Given the description of an element on the screen output the (x, y) to click on. 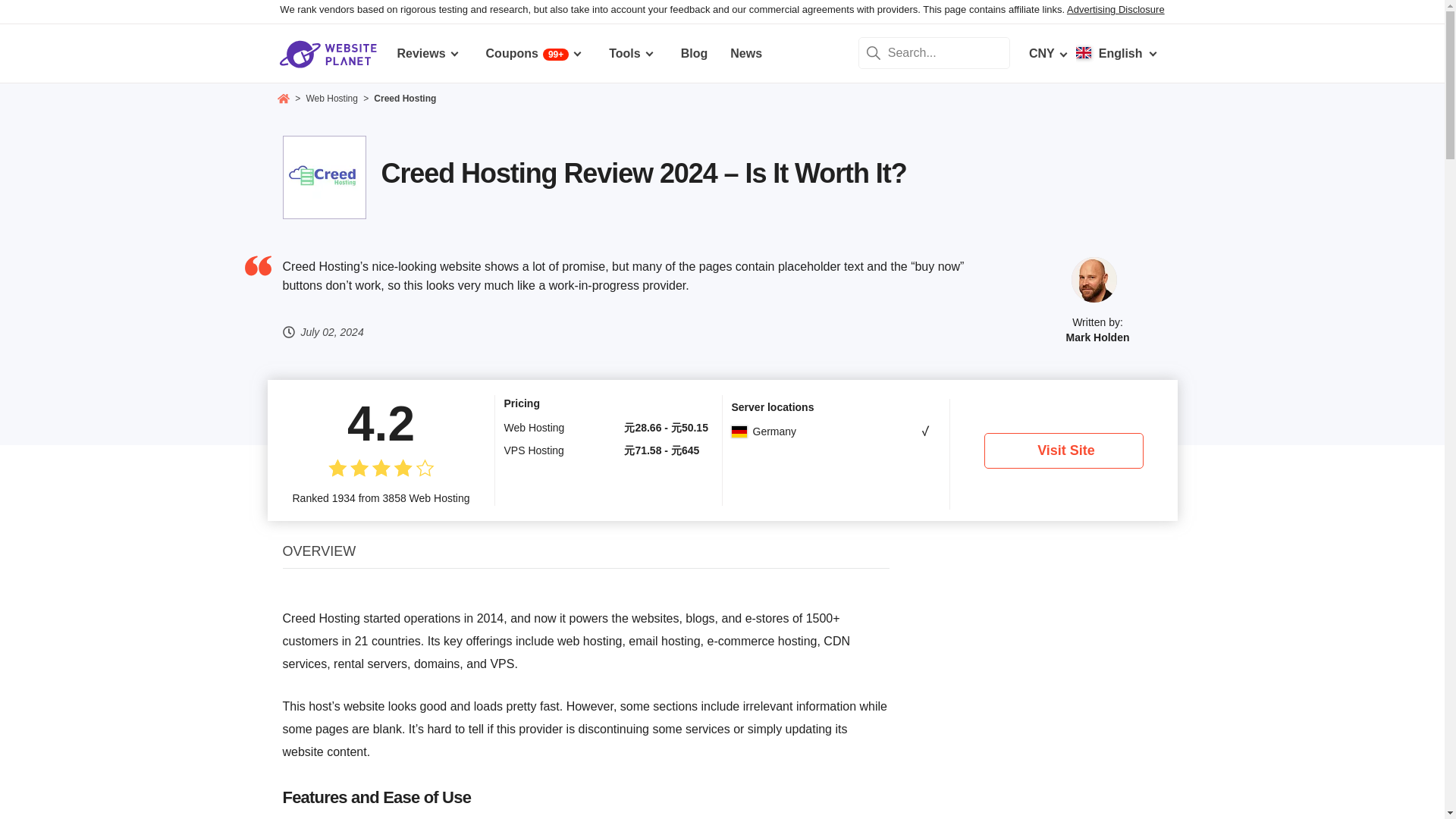
Advertising Disclosure (1115, 9)
Search (873, 52)
Search (873, 52)
